Given the description of an element on the screen output the (x, y) to click on. 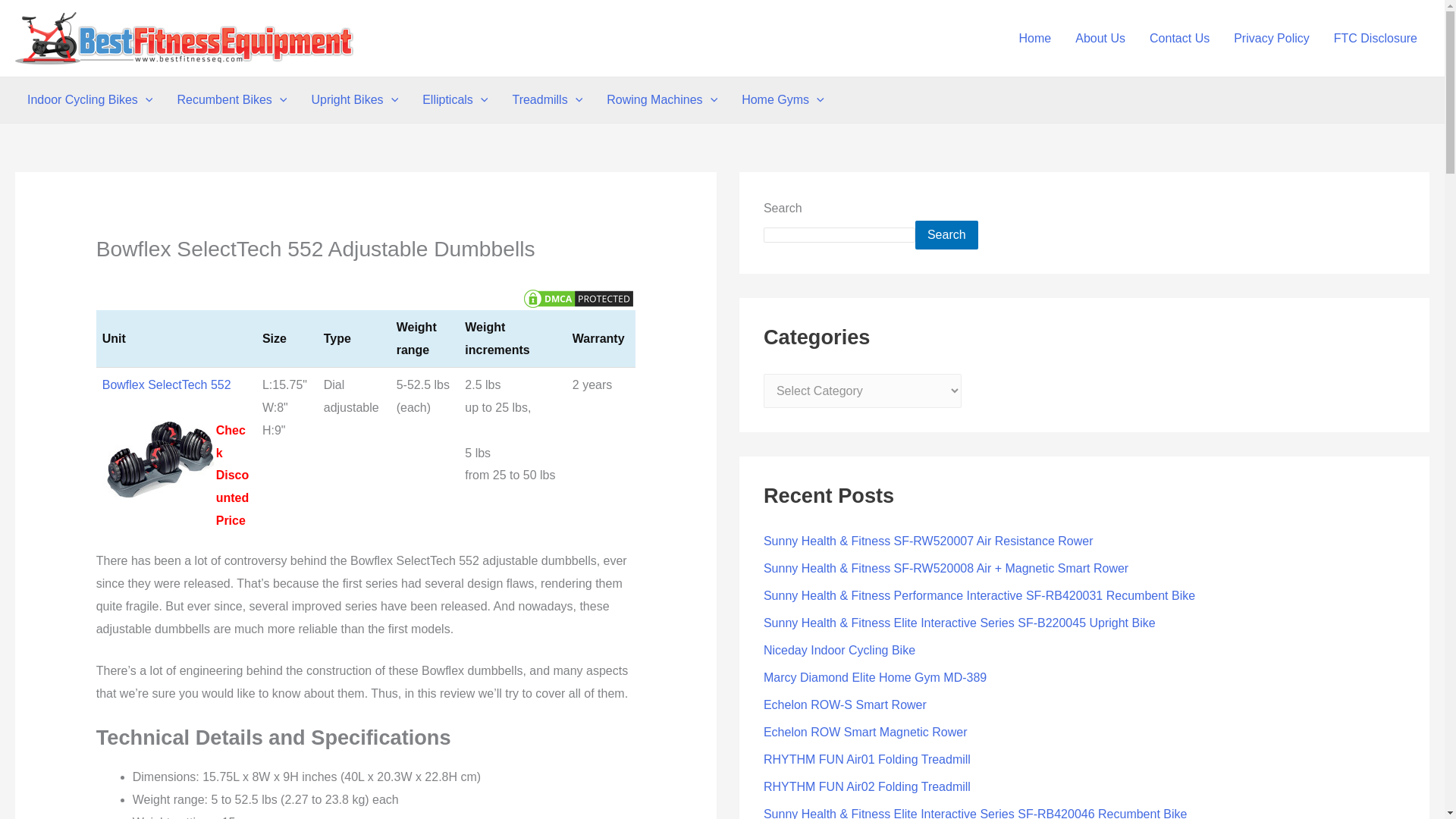
Treadmills (546, 99)
Contact Us (1179, 38)
Indoor Cycling Bikes (89, 99)
FTC Disclosure (1375, 38)
Privacy Policy (1271, 38)
Home Gyms (782, 99)
Rowing Machines (661, 99)
Recumbent Bikes (231, 99)
About Us (1099, 38)
Content Protection by DMCA.com (577, 297)
Upright Bikes (354, 99)
Home (1035, 38)
Ellipticals (454, 99)
